Given the description of an element on the screen output the (x, y) to click on. 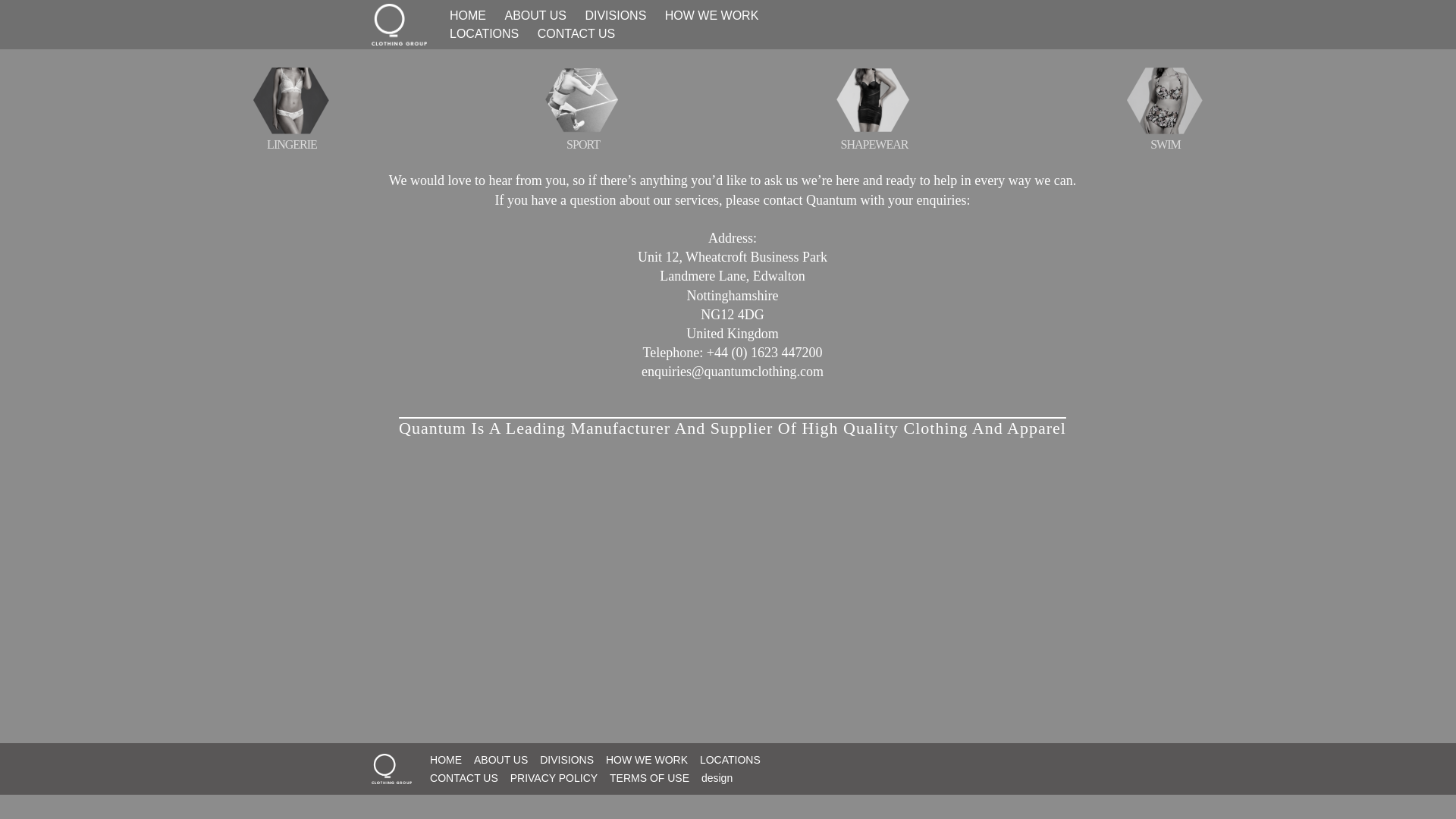
LOCATIONS (483, 33)
TERMS OF USE (649, 778)
PRIVACY POLICY (553, 778)
DIVISIONS (614, 14)
HOME (467, 14)
DIVISIONS (567, 760)
HOW WE WORK (712, 14)
design (716, 778)
LOCATIONS (730, 760)
HOME (445, 760)
HOW WE WORK (646, 760)
CONTACT US (463, 778)
ABOUT US (534, 14)
CONTACT US (576, 33)
ABOUT US (500, 760)
